Given the description of an element on the screen output the (x, y) to click on. 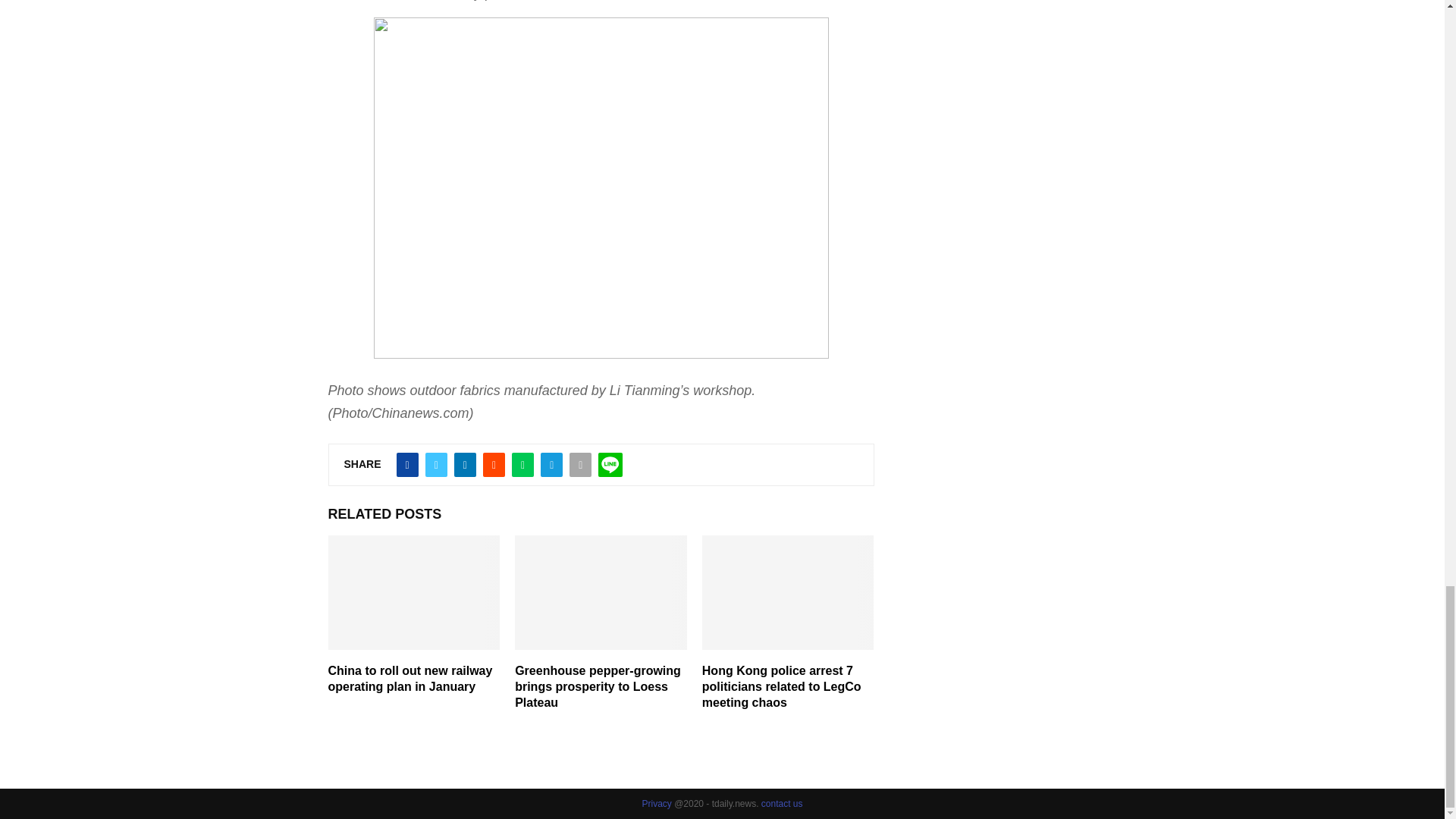
Privacy (656, 803)
Greenhouse pepper-growing brings prosperity to Loess Plateau (598, 686)
China to roll out new railway operating plan in January (409, 678)
contact us (782, 803)
